Given the description of an element on the screen output the (x, y) to click on. 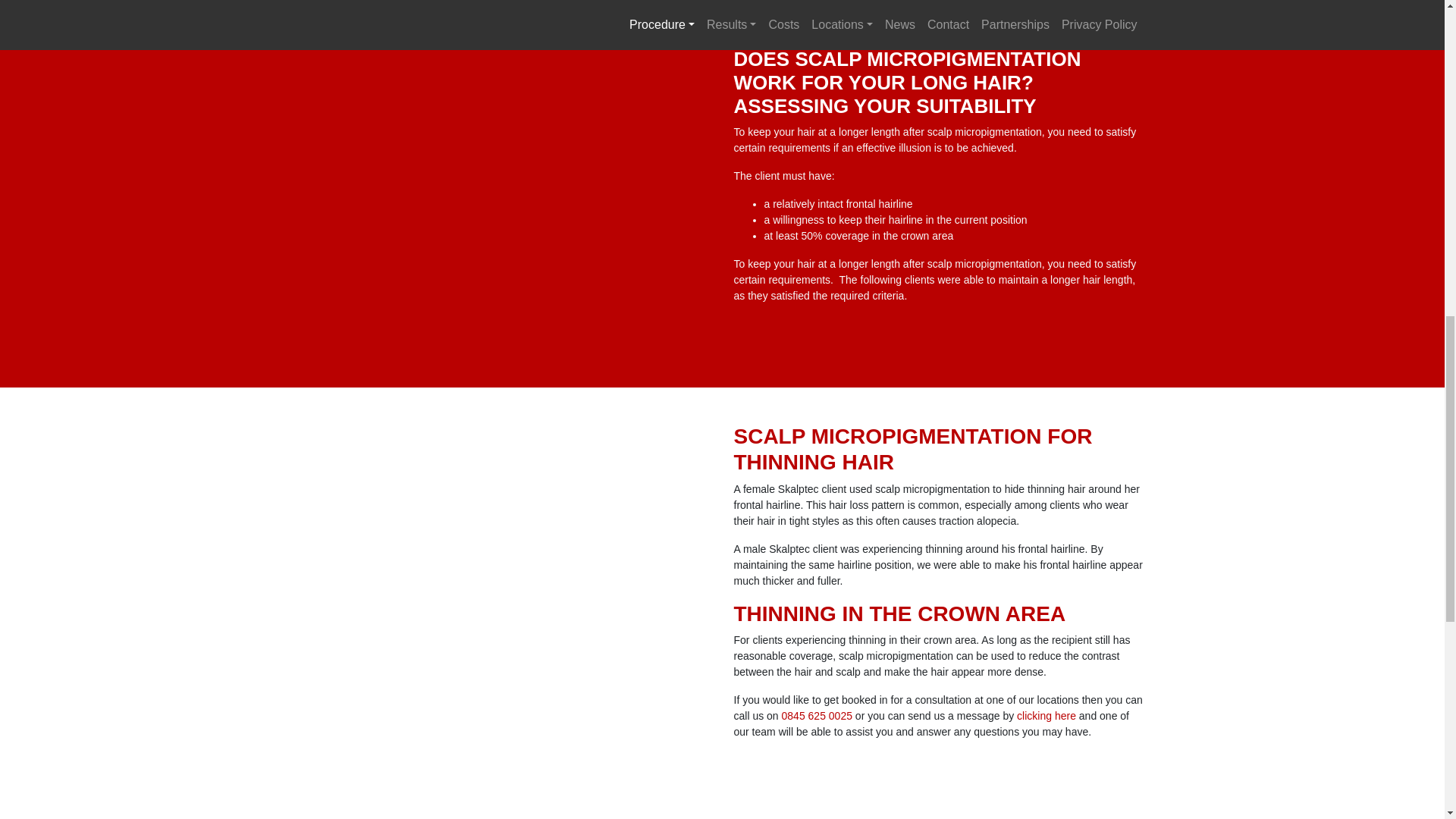
clicking here (1045, 715)
0845 625 0025 (816, 715)
